Given the description of an element on the screen output the (x, y) to click on. 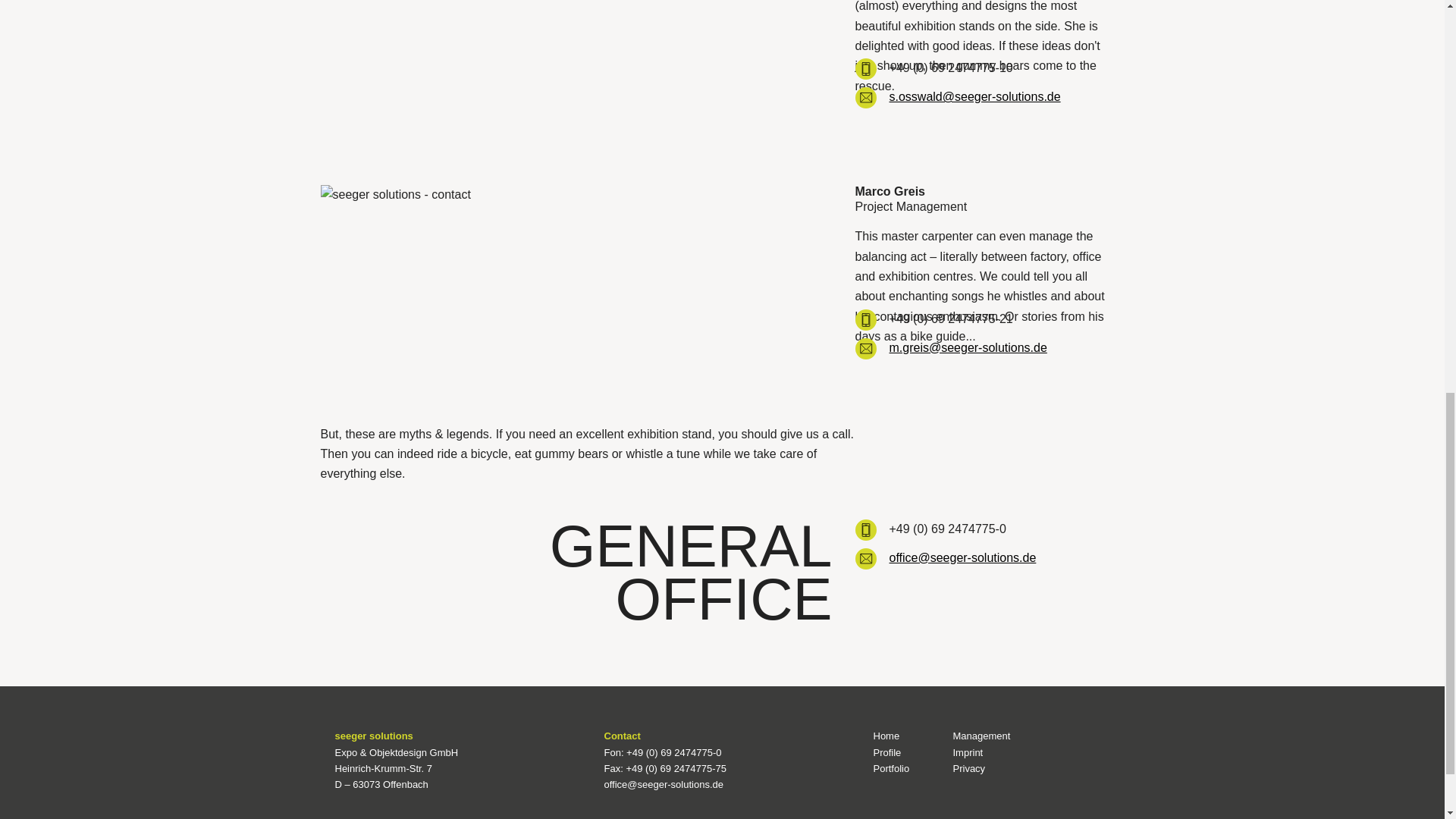
Privacy (968, 767)
Imprint (967, 752)
Management (981, 736)
Portfolio (891, 767)
Profile (887, 752)
Home (886, 736)
